Given the description of an element on the screen output the (x, y) to click on. 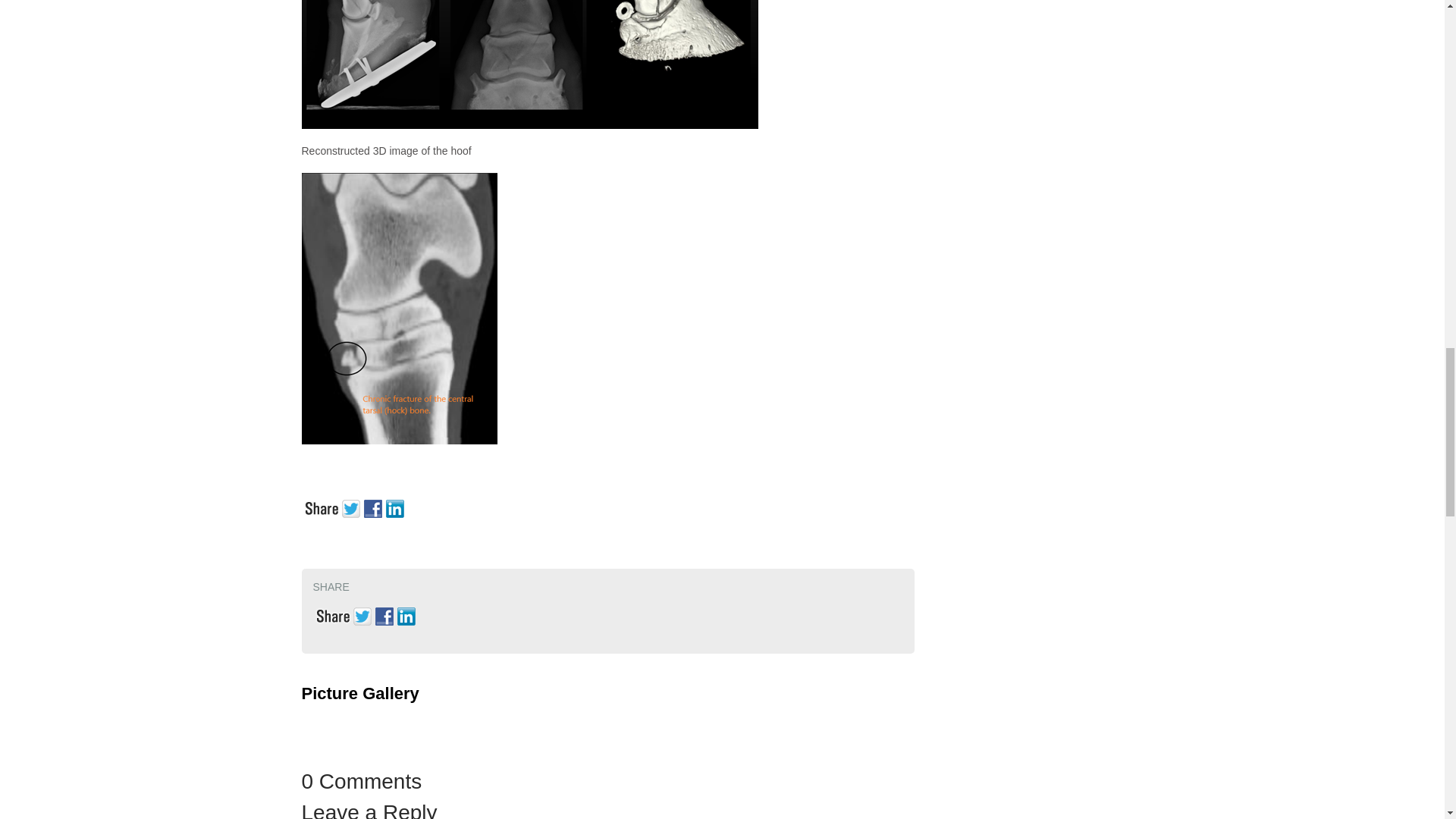
Linkedin (396, 506)
Facebook (374, 506)
Twitter (364, 614)
Twitter (351, 506)
Linkedin (408, 614)
Facebook (385, 614)
